Given the description of an element on the screen output the (x, y) to click on. 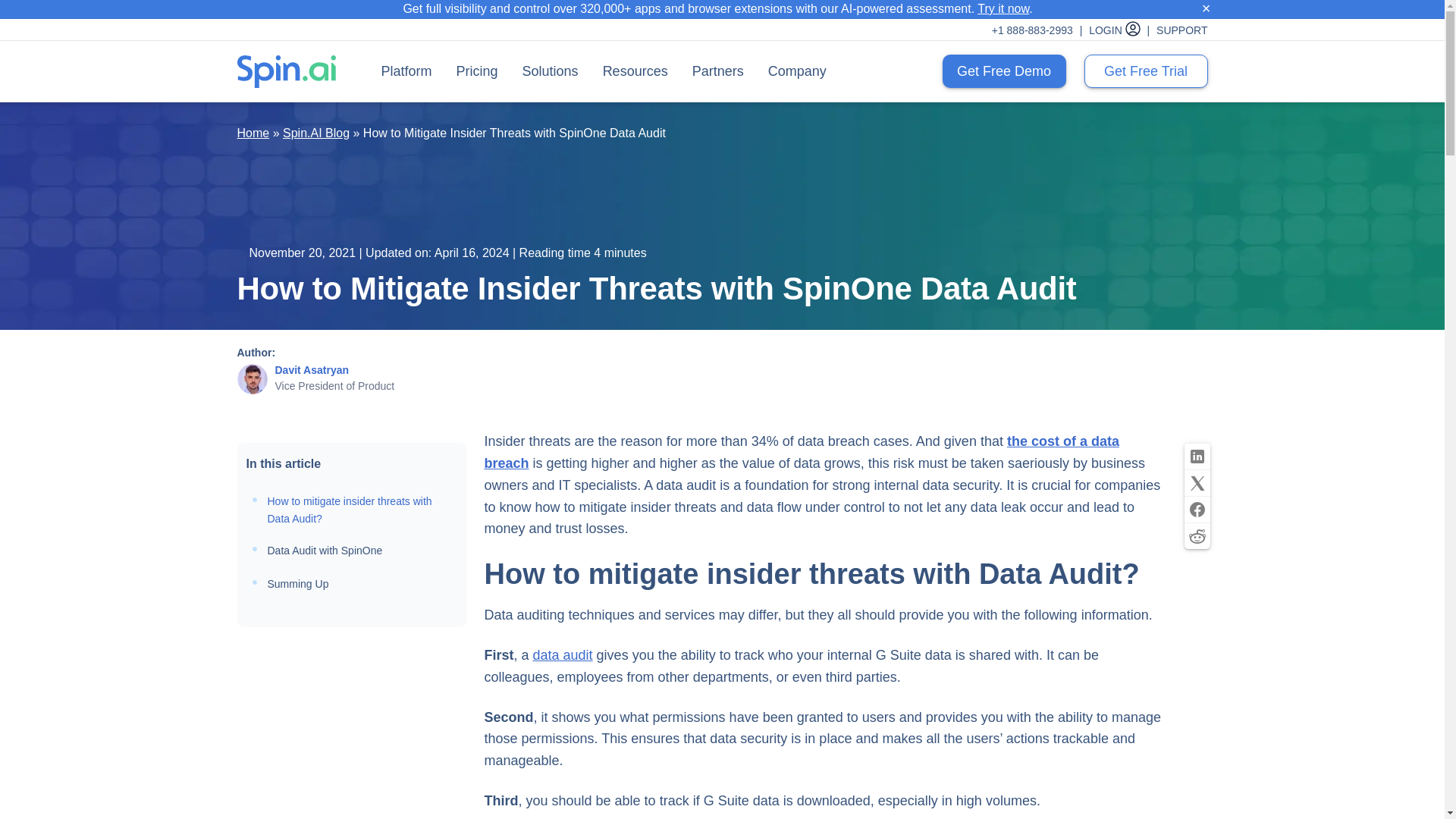
SUPPORT (1181, 30)
Posts by Davit Asatryan (312, 369)
Spin.ai Home (284, 71)
Resources (635, 70)
Pricing (477, 70)
Try it now (1002, 8)
Platform (406, 70)
Spin.AI Blog (315, 132)
Solutions (551, 70)
Home (252, 132)
